Given the description of an element on the screen output the (x, y) to click on. 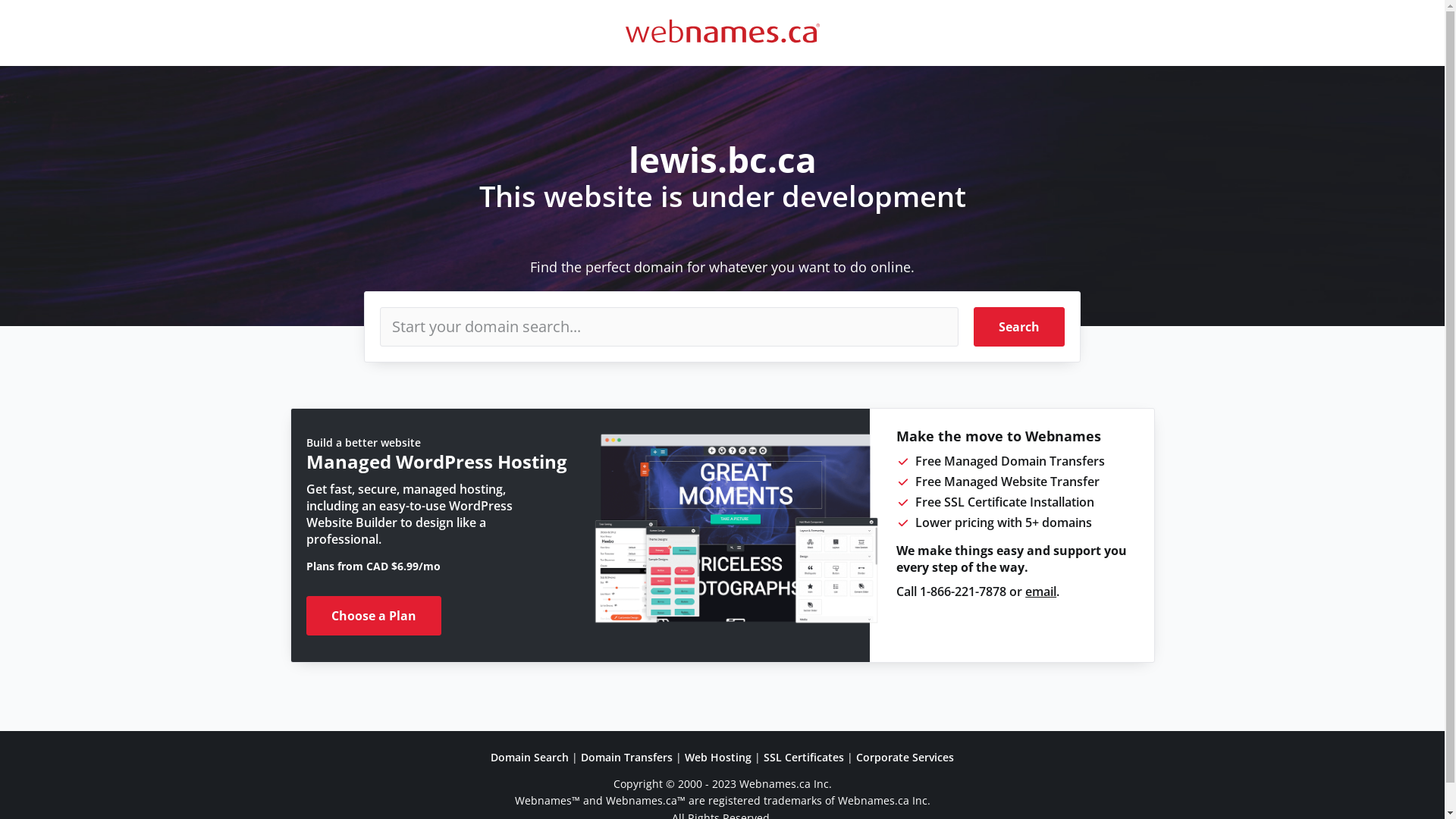
Domain Transfers Element type: text (626, 756)
1-866-221-7878 Element type: text (962, 591)
Search Element type: text (1018, 326)
SSL Certificates Element type: text (803, 756)
Choose a Plan Element type: text (373, 615)
Corporate Services Element type: text (904, 756)
Web Hosting Element type: text (717, 756)
email Element type: text (1040, 591)
Domain Search Element type: text (529, 756)
